Given the description of an element on the screen output the (x, y) to click on. 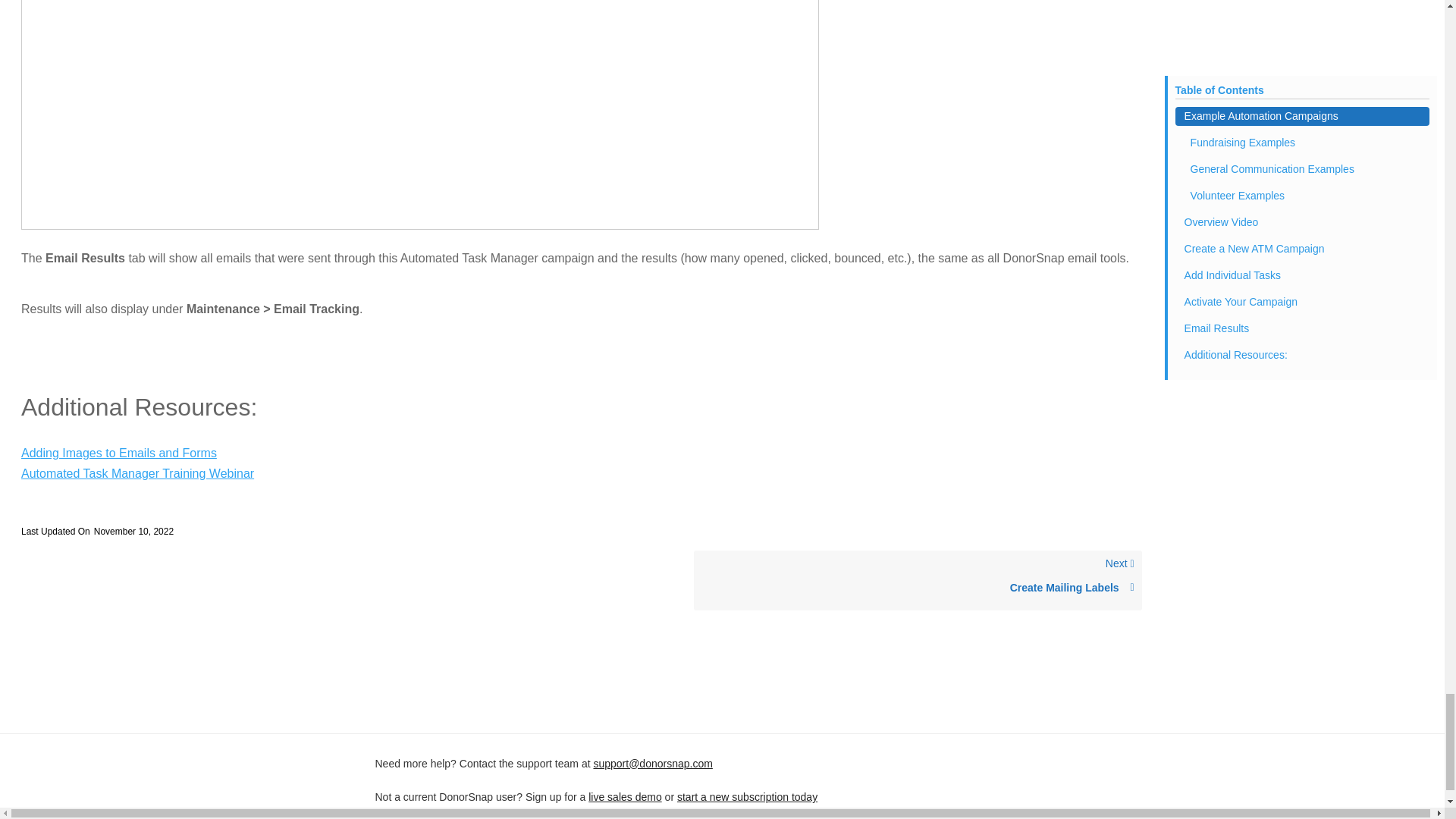
Create Mailing Labels (917, 587)
start a new subscription today (746, 797)
live sales demo (917, 580)
Adding Images to Emails and Forms (625, 797)
Automated Task Manager Training Webinar (118, 452)
